Given the description of an element on the screen output the (x, y) to click on. 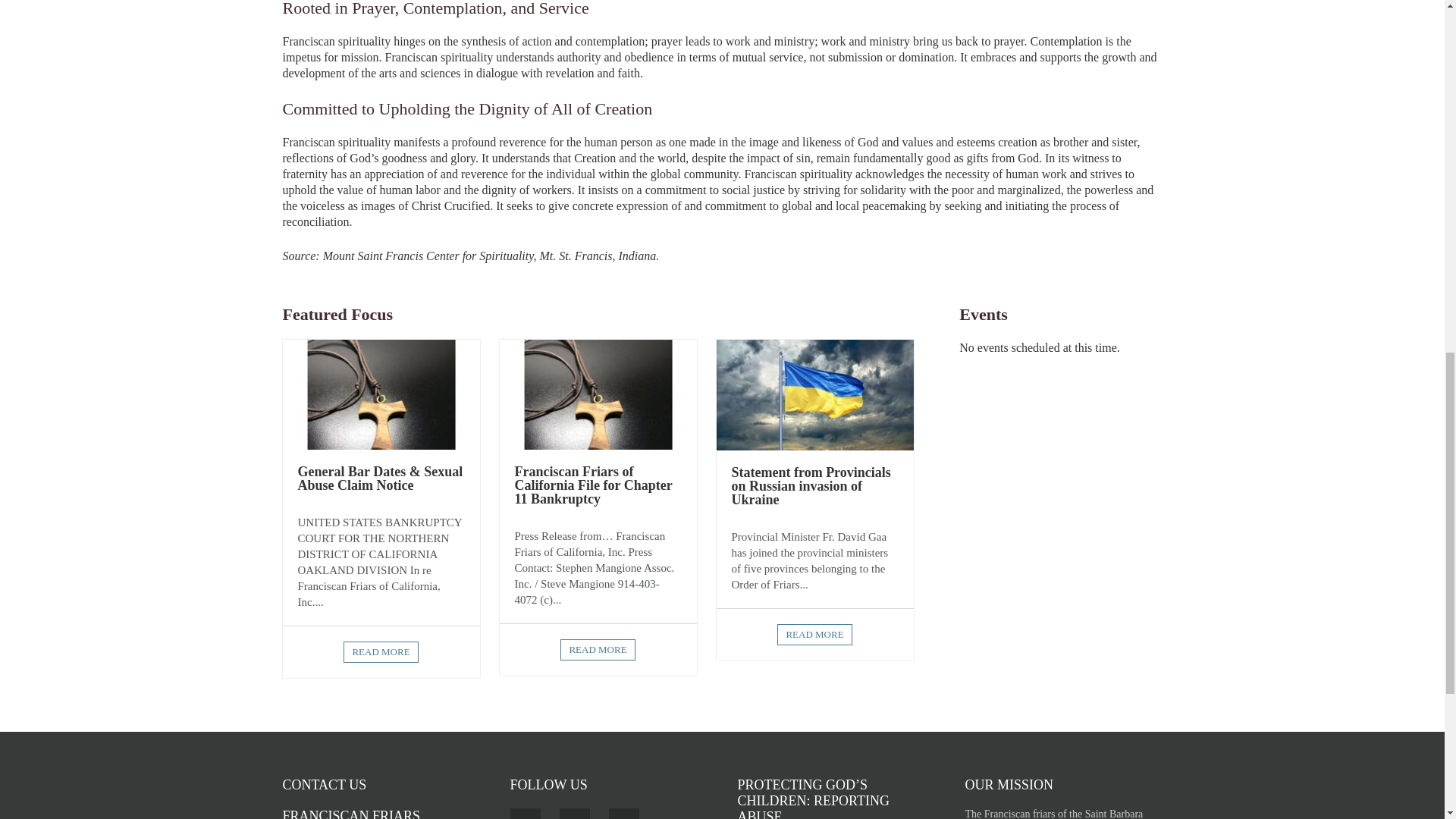
Read more (380, 651)
Read more (814, 634)
Statement from Provincials on Russian invasion of Ukraine (809, 485)
Statement from Provincials on Russian invasion of Ukraine (814, 394)
Read more (597, 649)
